Given the description of an element on the screen output the (x, y) to click on. 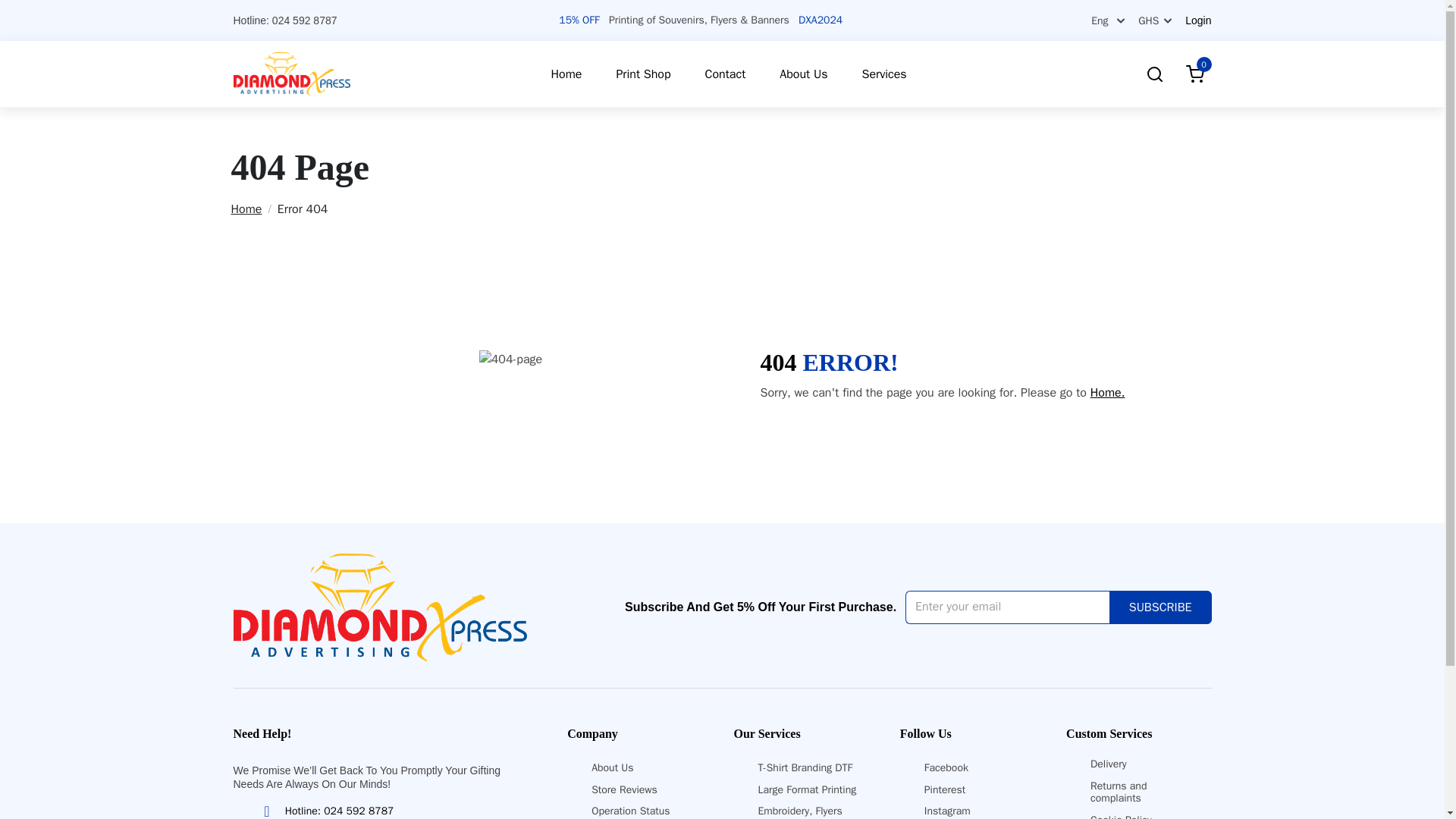
About Us (801, 74)
Facebook (946, 767)
Contact (723, 74)
About Us (612, 767)
Home (563, 74)
Hotline: 024 592 8787 (325, 810)
Embroidery, Flyers (799, 810)
Home. (1107, 392)
Print Shop (640, 74)
Home (250, 209)
